Given the description of an element on the screen output the (x, y) to click on. 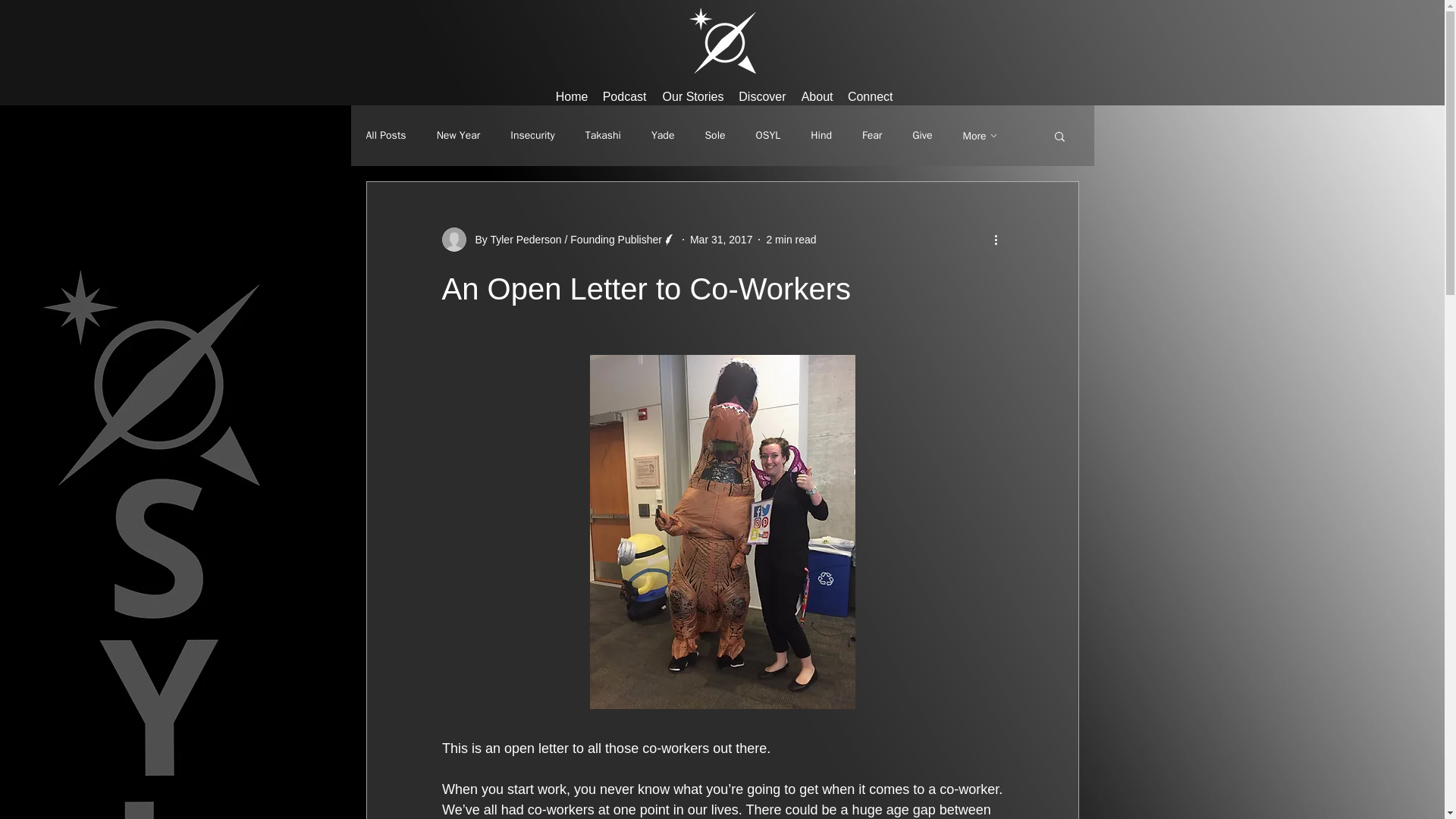
New Year (458, 135)
Discover (760, 89)
Give (921, 135)
OSYL (767, 135)
Insecurity (532, 135)
Hind (820, 135)
Mar 31, 2017 (721, 239)
Podcast (623, 89)
Home (570, 89)
Yade (662, 135)
Connect (868, 89)
All Posts (385, 135)
Fear (871, 135)
About (815, 89)
Takashi (603, 135)
